Given the description of an element on the screen output the (x, y) to click on. 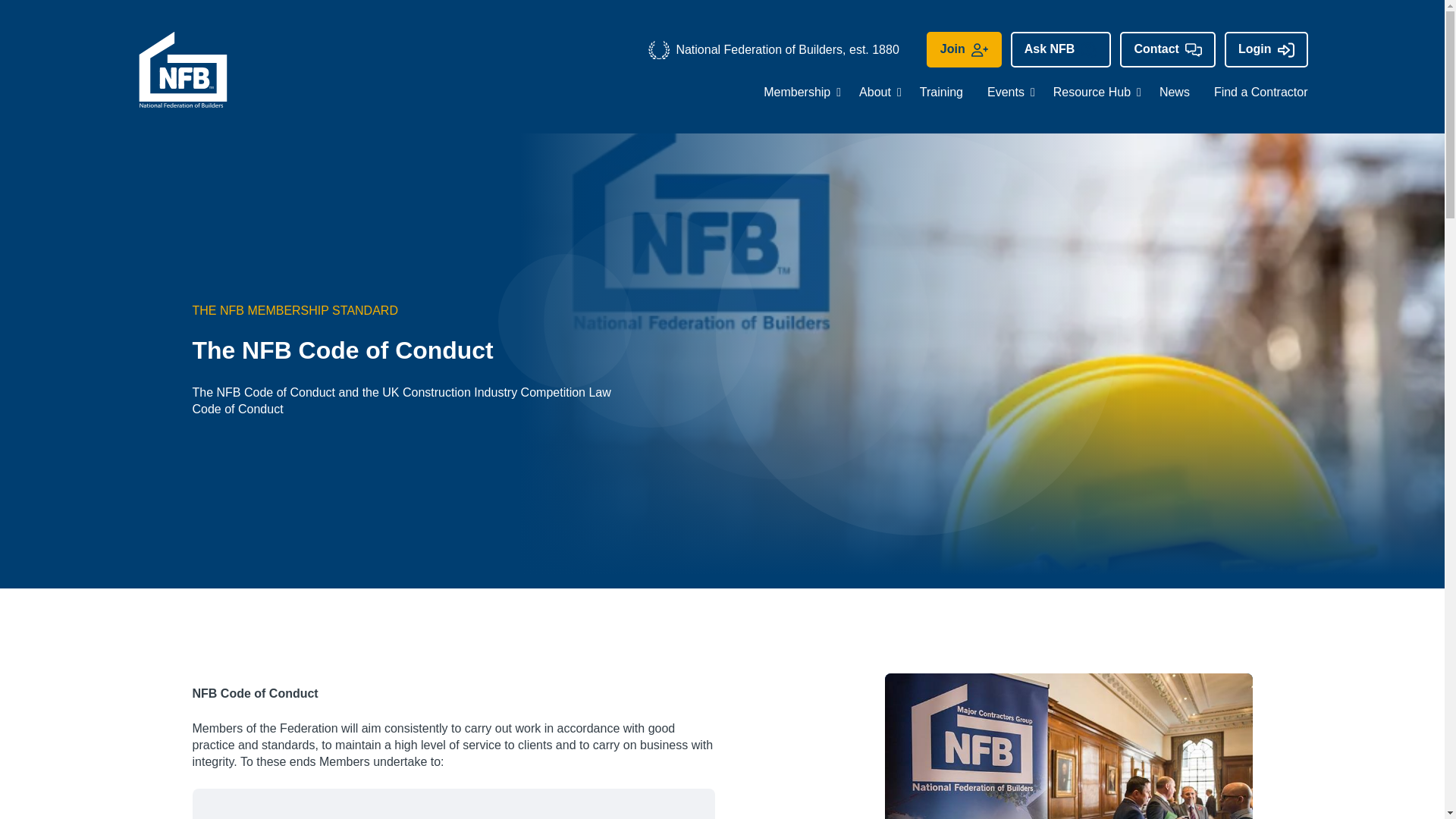
Login (1265, 49)
About (874, 92)
Join (963, 49)
Membership (797, 92)
Contact (1167, 49)
Ask NFB (1061, 49)
